Given the description of an element on the screen output the (x, y) to click on. 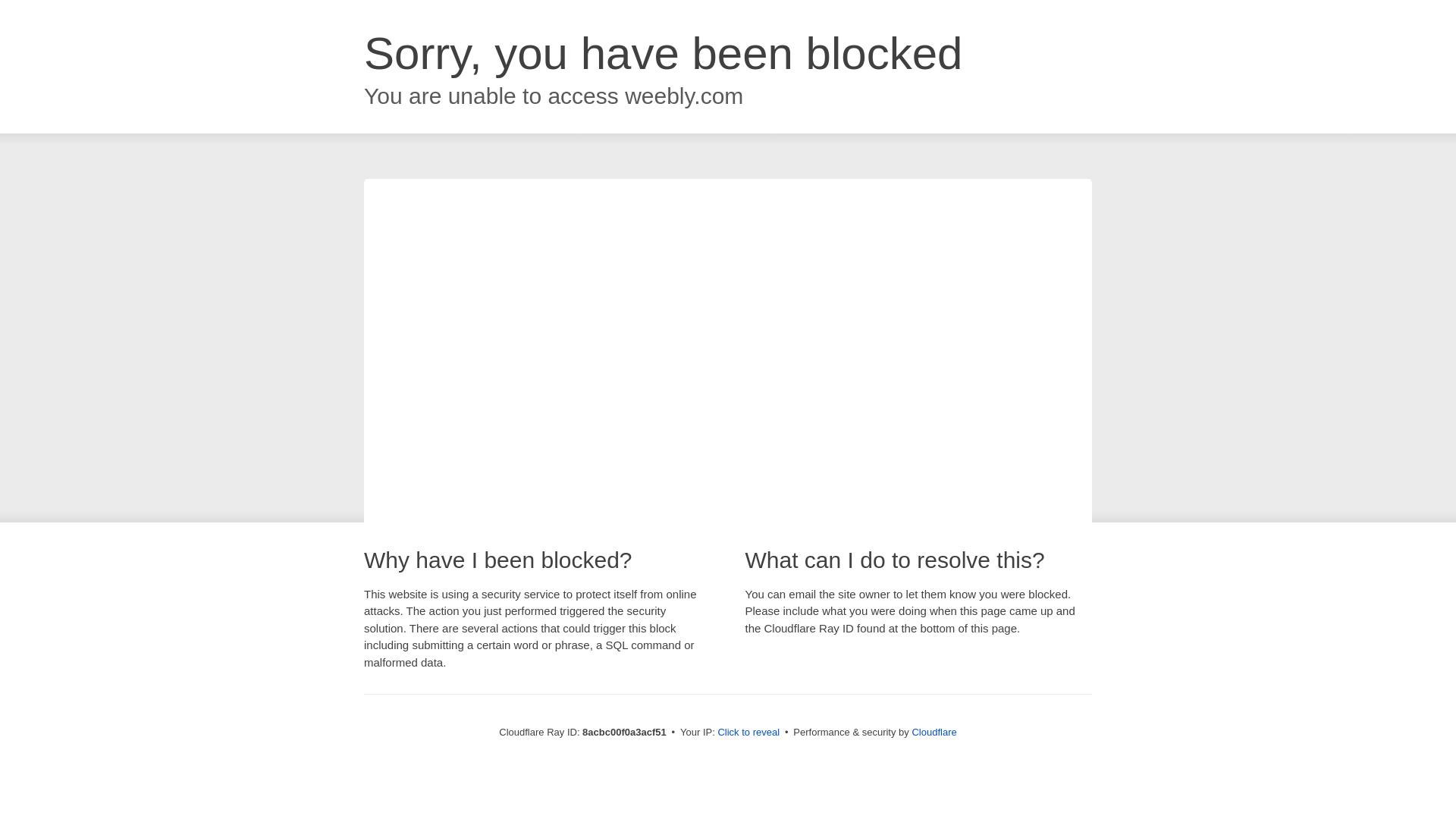
Click to reveal (747, 732)
Cloudflare (933, 731)
